Given the description of an element on the screen output the (x, y) to click on. 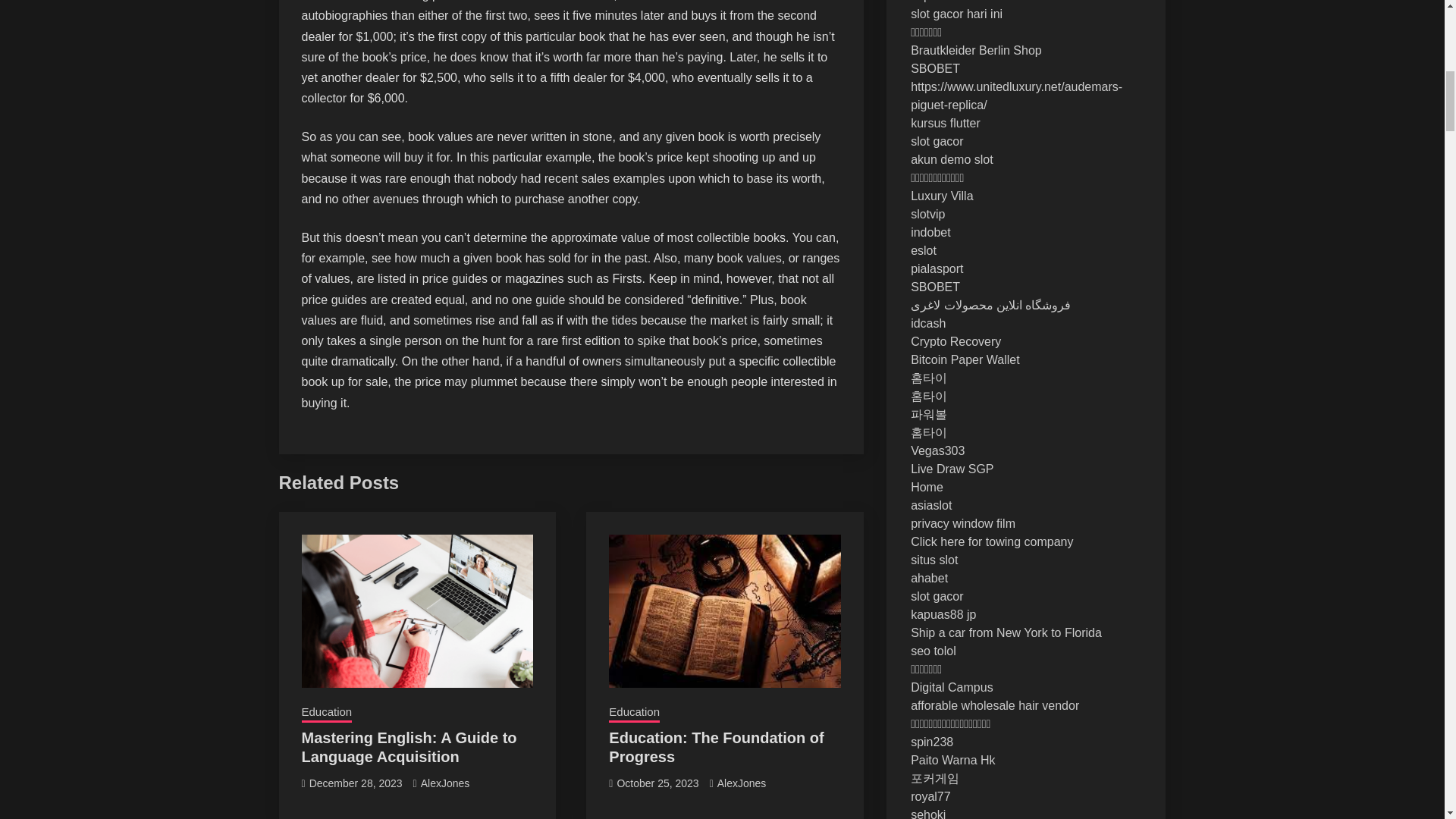
Education (326, 713)
Education (633, 713)
October 25, 2023 (656, 783)
December 28, 2023 (355, 783)
AlexJones (742, 783)
Education: The Foundation of Progress (716, 746)
Mastering English: A Guide to Language Acquisition (408, 746)
AlexJones (445, 783)
